Given the description of an element on the screen output the (x, y) to click on. 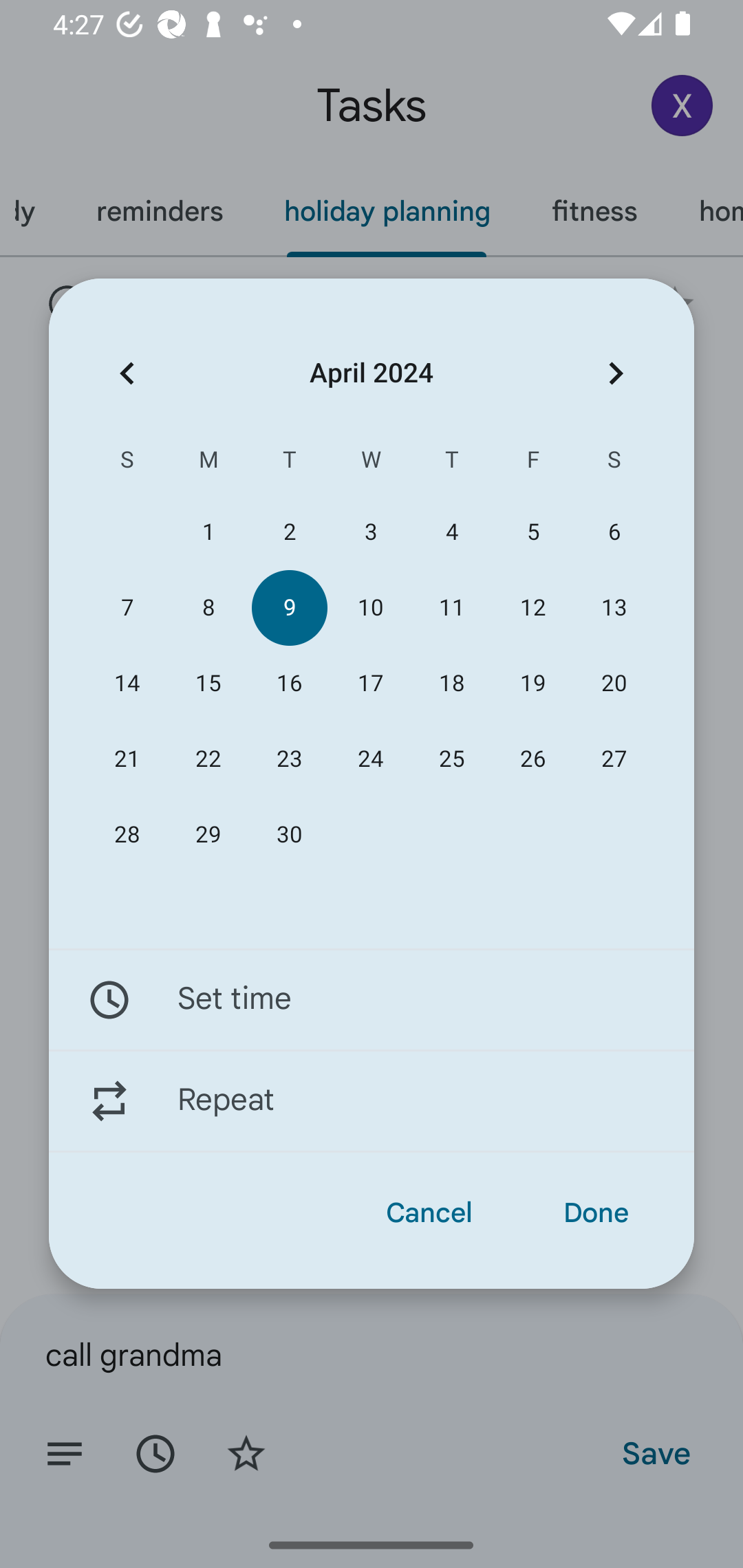
Previous month (126, 372)
Next month (615, 372)
1 01 April 2024 (207, 531)
2 02 April 2024 (288, 531)
3 03 April 2024 (370, 531)
4 04 April 2024 (451, 531)
5 05 April 2024 (532, 531)
6 06 April 2024 (613, 531)
7 07 April 2024 (126, 608)
8 08 April 2024 (207, 608)
9 09 April 2024 (288, 608)
10 10 April 2024 (370, 608)
11 11 April 2024 (451, 608)
12 12 April 2024 (532, 608)
13 13 April 2024 (613, 608)
14 14 April 2024 (126, 683)
15 15 April 2024 (207, 683)
16 16 April 2024 (288, 683)
17 17 April 2024 (370, 683)
18 18 April 2024 (451, 683)
19 19 April 2024 (532, 683)
20 20 April 2024 (613, 683)
21 21 April 2024 (126, 758)
22 22 April 2024 (207, 758)
23 23 April 2024 (288, 758)
24 24 April 2024 (370, 758)
25 25 April 2024 (451, 758)
26 26 April 2024 (532, 758)
27 27 April 2024 (613, 758)
28 28 April 2024 (126, 834)
29 29 April 2024 (207, 834)
30 30 April 2024 (288, 834)
Set time (371, 999)
Repeat (371, 1101)
Cancel (429, 1213)
Done (595, 1213)
